Given the description of an element on the screen output the (x, y) to click on. 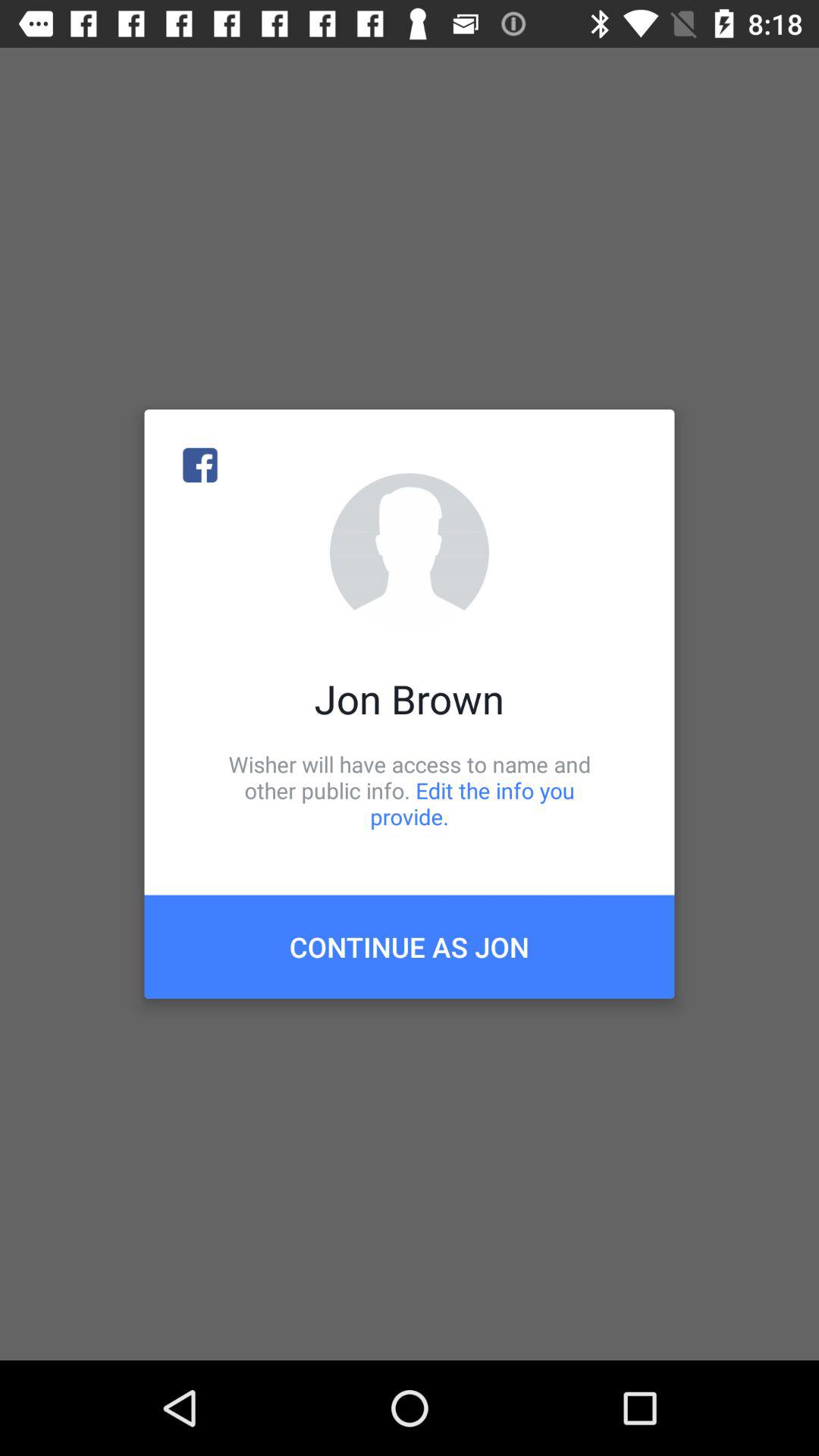
turn on wisher will have (409, 790)
